Given the description of an element on the screen output the (x, y) to click on. 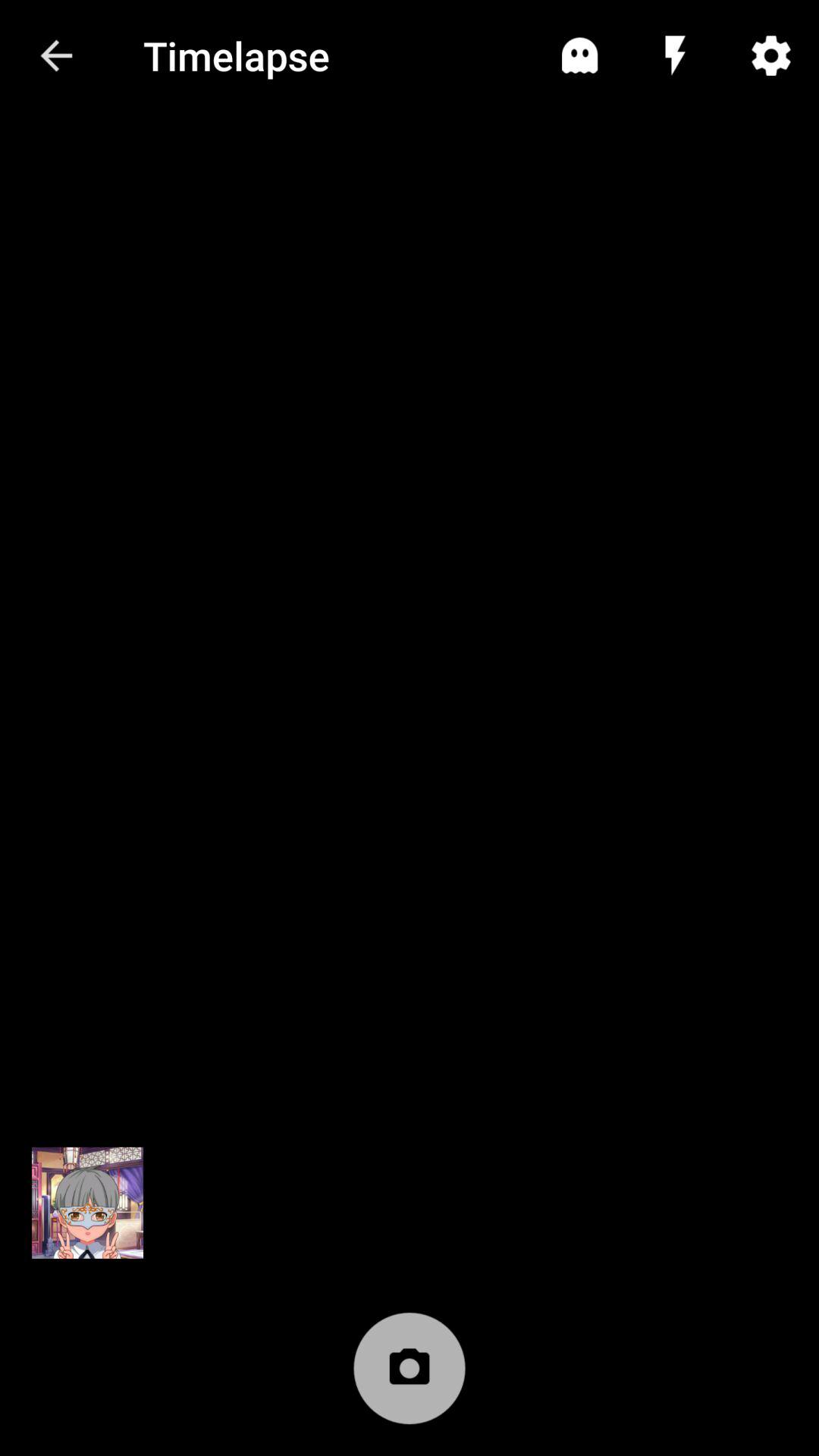
open icon to the right of the timelapse icon (579, 55)
